Given the description of an element on the screen output the (x, y) to click on. 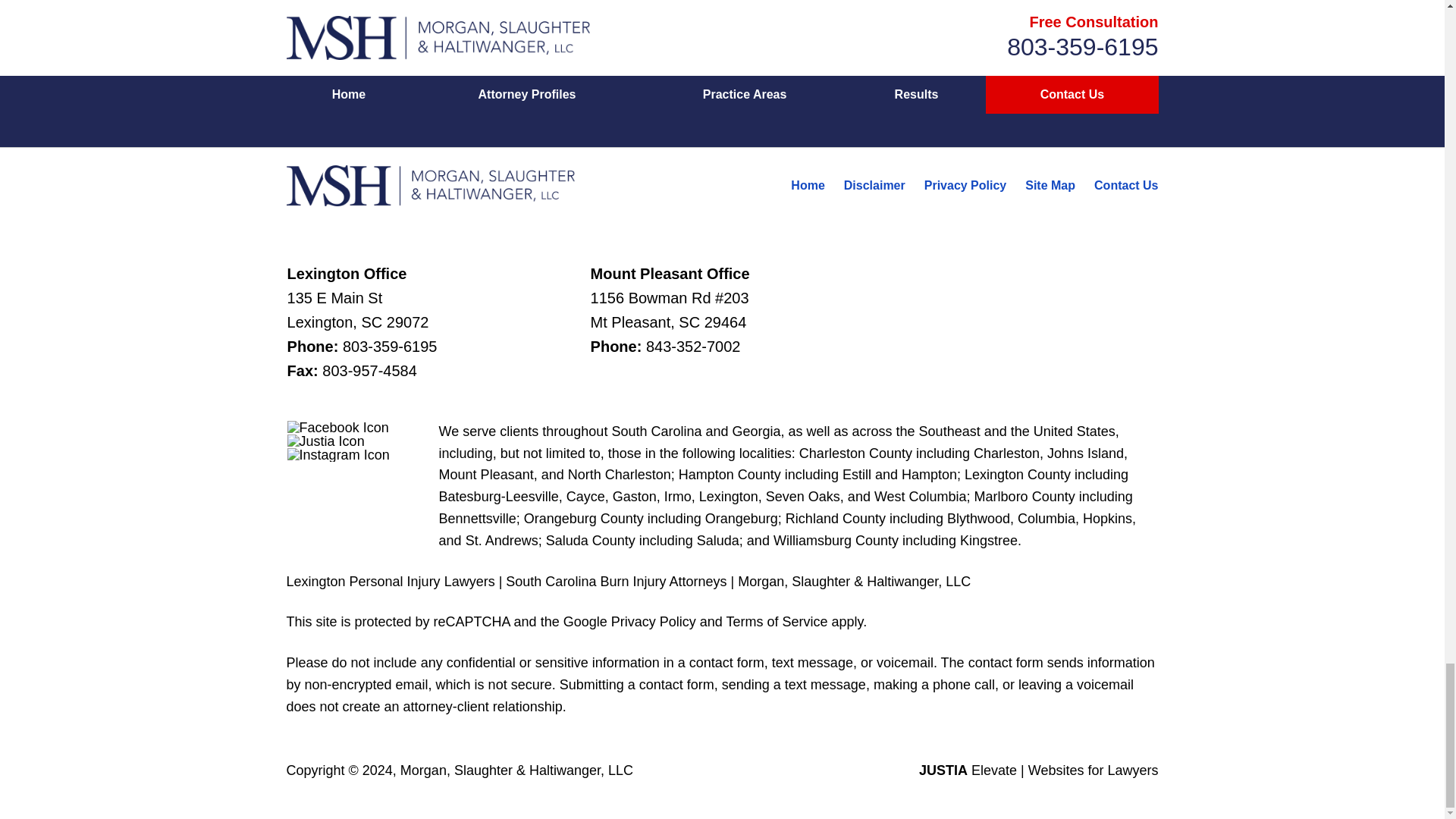
Facebook (337, 427)
Instagram (338, 454)
Justia (325, 440)
